Given the description of an element on the screen output the (x, y) to click on. 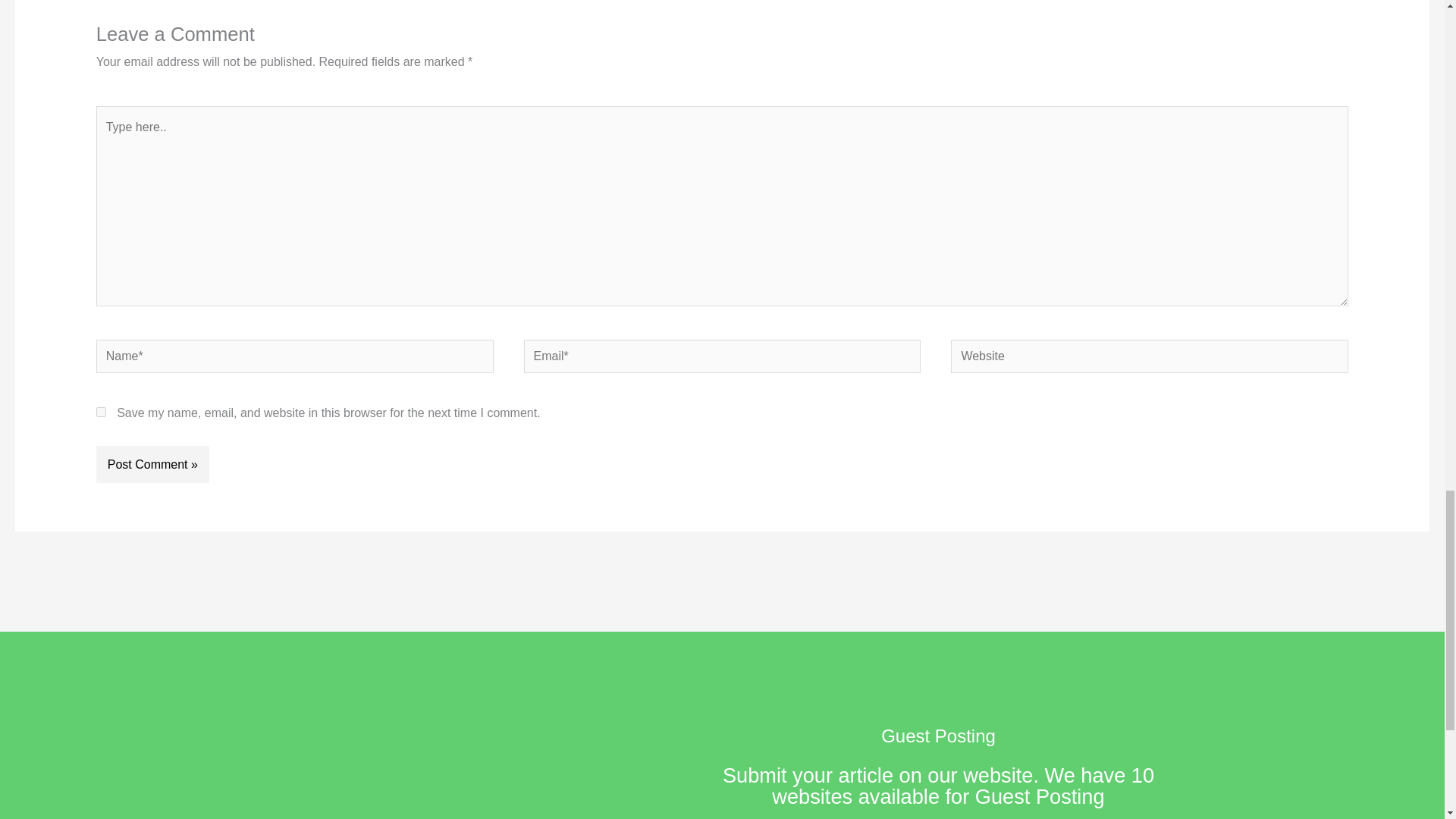
yes (101, 411)
